Given the description of an element on the screen output the (x, y) to click on. 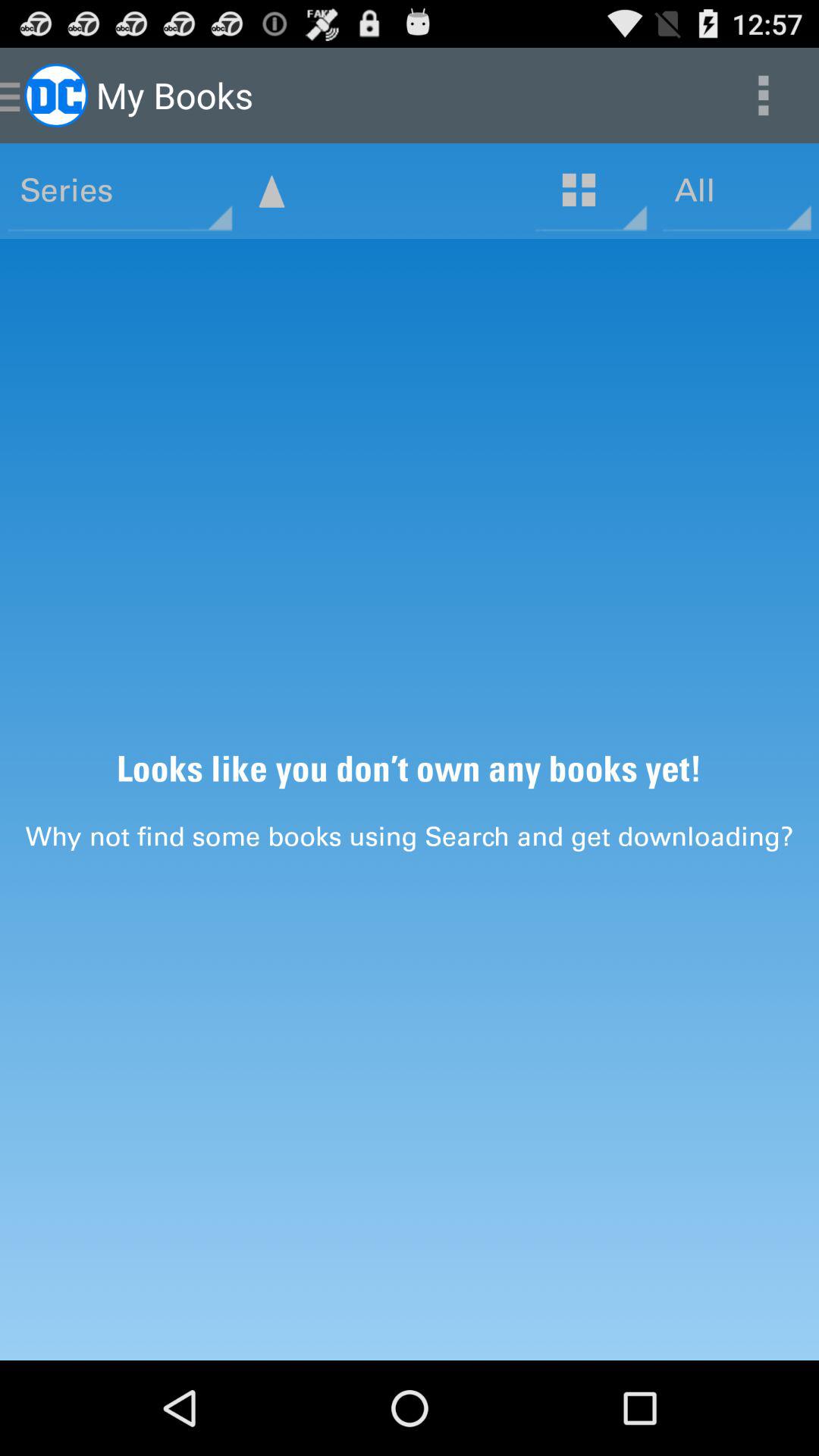
open the icon to the right of series icon (271, 190)
